Given the description of an element on the screen output the (x, y) to click on. 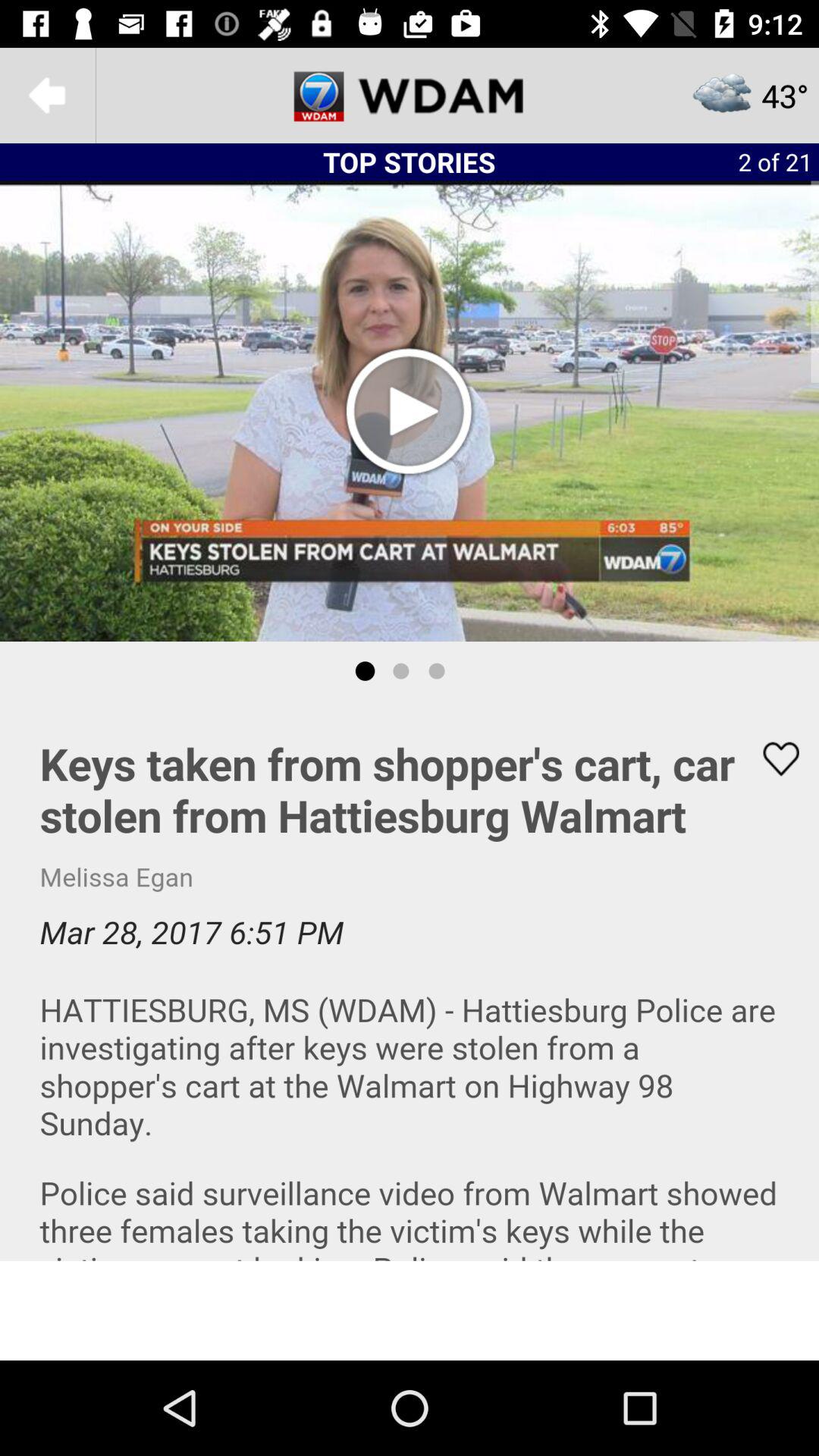
click the bottom of the screen (409, 1310)
